Given the description of an element on the screen output the (x, y) to click on. 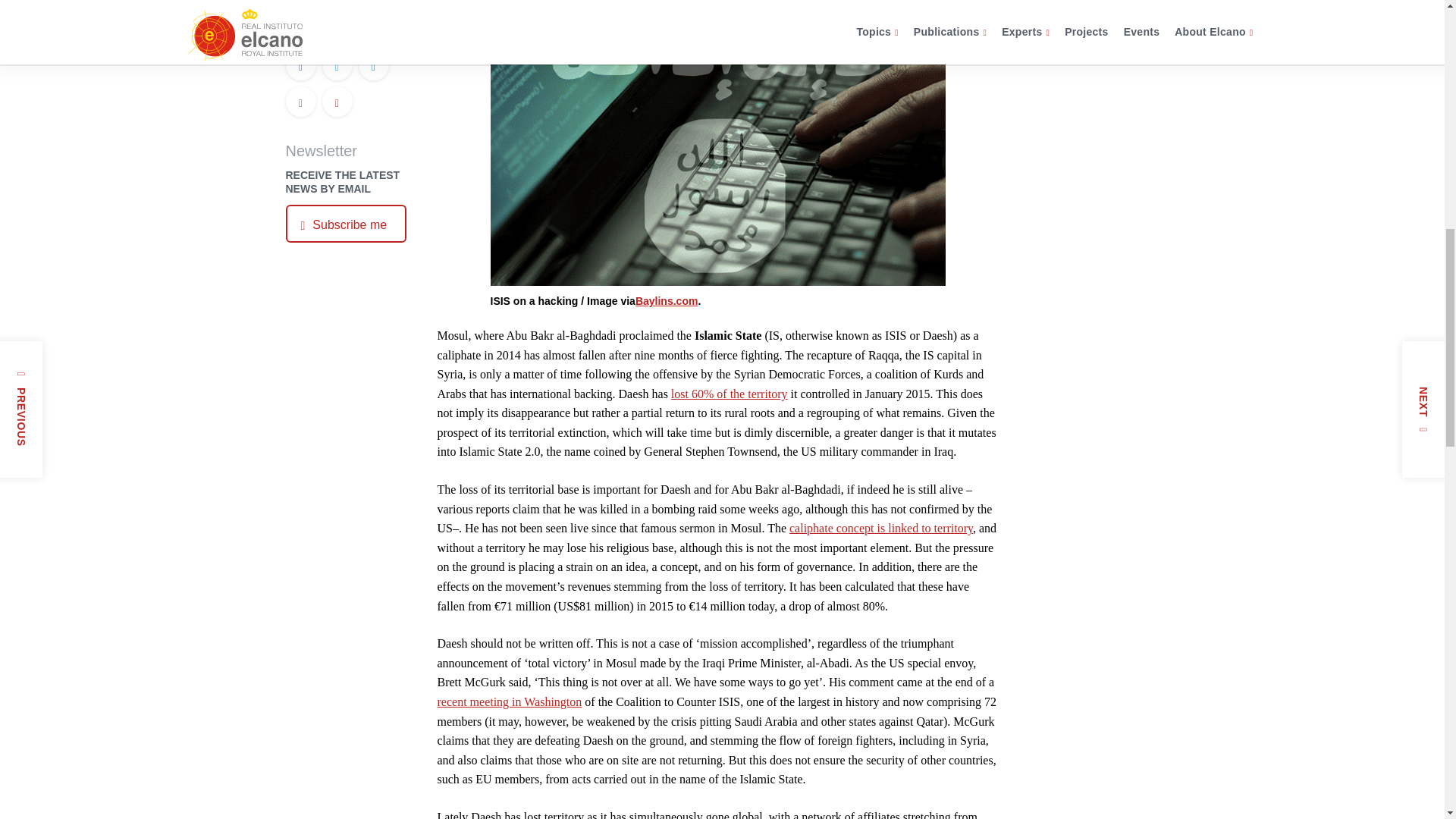
Copy Link (336, 102)
